Given the description of an element on the screen output the (x, y) to click on. 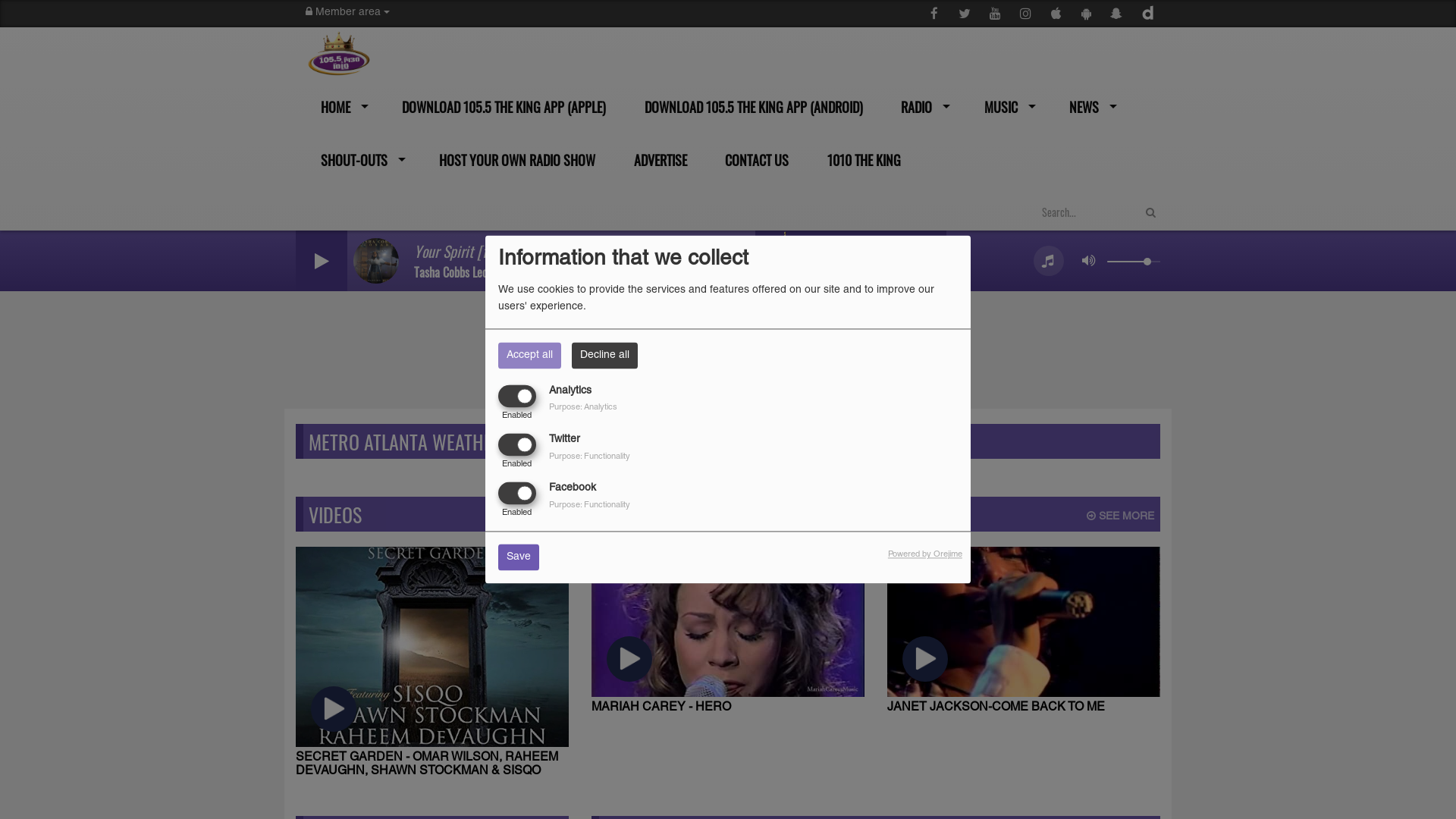
MARIAH CAREY - HERO Element type: text (727, 630)
Powered by Orejime Element type: text (925, 555)
HOST YOUR OWN RADIO SHOW Element type: text (514, 159)
JANET JACKSON-COME BACK TO ME Element type: text (1023, 630)
HOME Element type: text (340, 106)
NEWS Element type: text (1089, 106)
Member area Element type: text (347, 12)
Accept all Element type: text (529, 355)
SHOUT-OUTS Element type: text (358, 159)
CONTACT US Element type: text (755, 159)
RADIO Element type: text (922, 106)
Save Element type: text (518, 557)
ADVERTISE Element type: text (658, 159)
MUSIC Element type: text (1005, 106)
1010 THE KING Element type: text (861, 159)
Decline all Element type: text (604, 355)
SEE MORE Element type: text (1120, 516)
DOWNLOAD 105.5 THE KING APP (ANDROID) Element type: text (751, 106)
DOWNLOAD 105.5 THE KING APP (APPLE) Element type: text (502, 106)
